Given the description of an element on the screen output the (x, y) to click on. 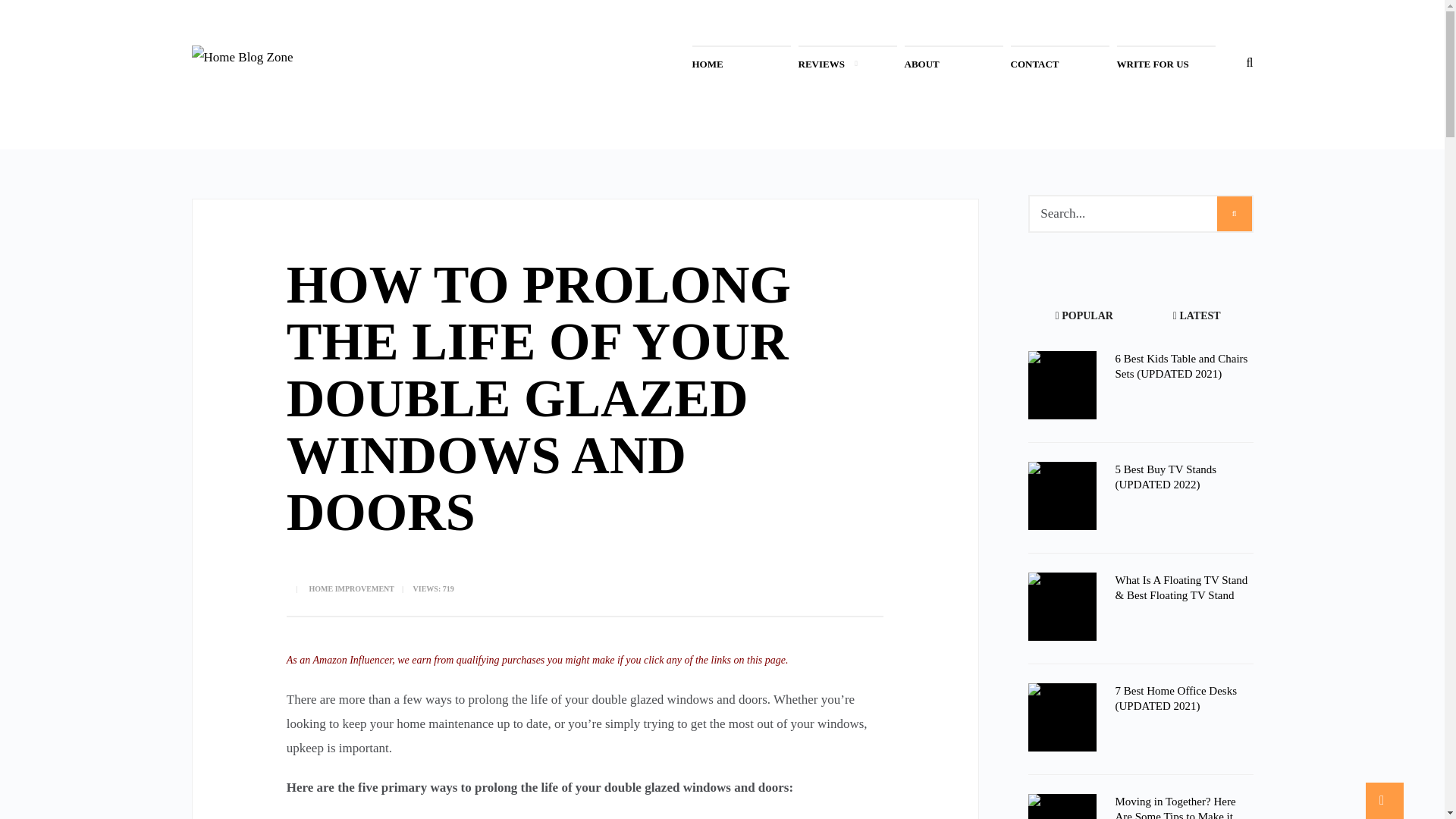
CONTACT (1043, 63)
ABOUT (931, 63)
HOME (716, 63)
HOME IMPROVEMENT (351, 588)
WRITE FOR US (1161, 63)
REVIEWS (830, 63)
Search... (1140, 213)
